Given the description of an element on the screen output the (x, y) to click on. 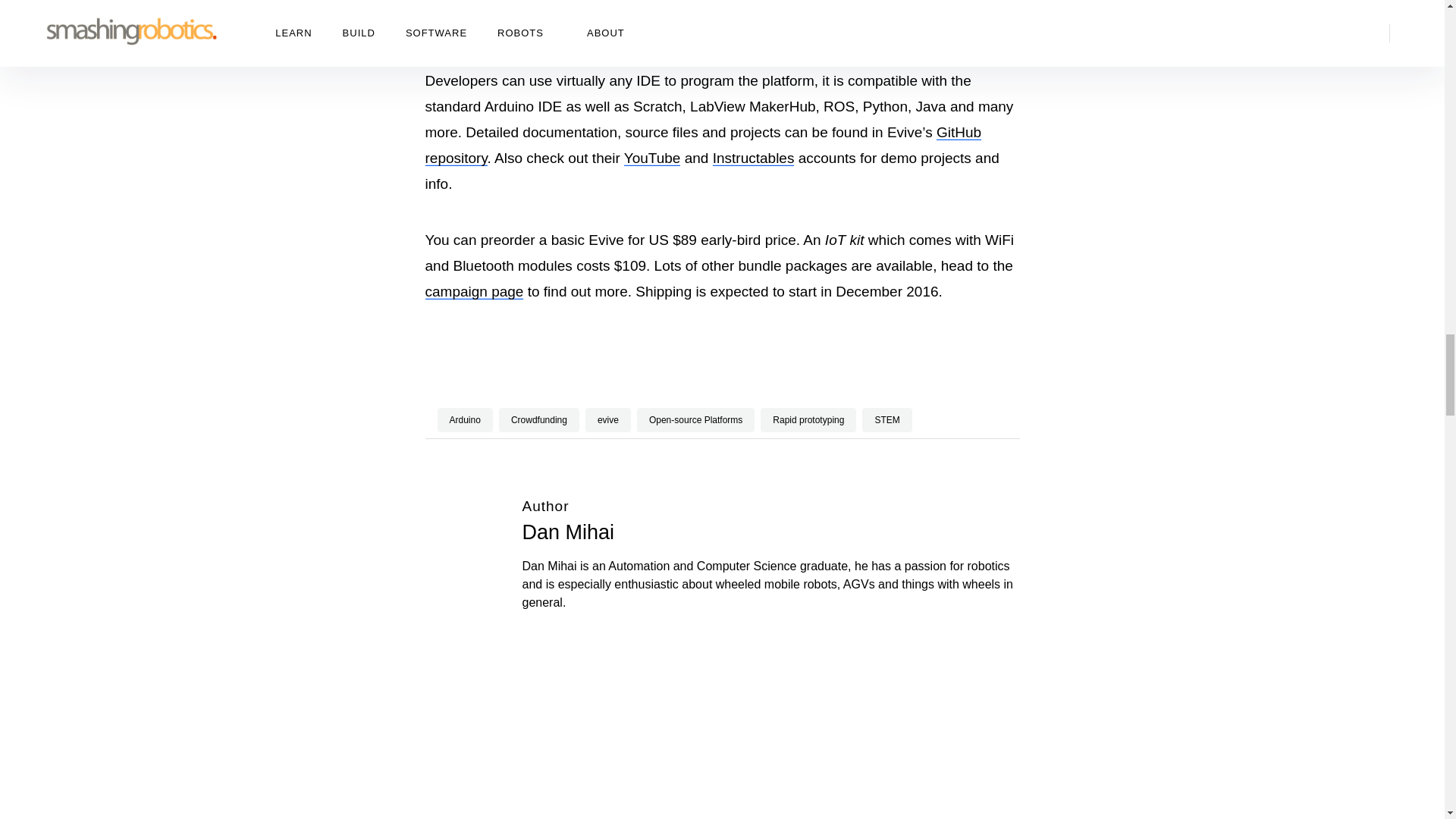
Arduino (464, 419)
Dan Mihai (567, 531)
campaign page (473, 291)
STEM (886, 419)
Instructables (753, 157)
GitHub repository (703, 145)
Open-source Platforms (695, 419)
YouTube (652, 157)
evive (607, 419)
Crowdfunding (539, 419)
